Given the description of an element on the screen output the (x, y) to click on. 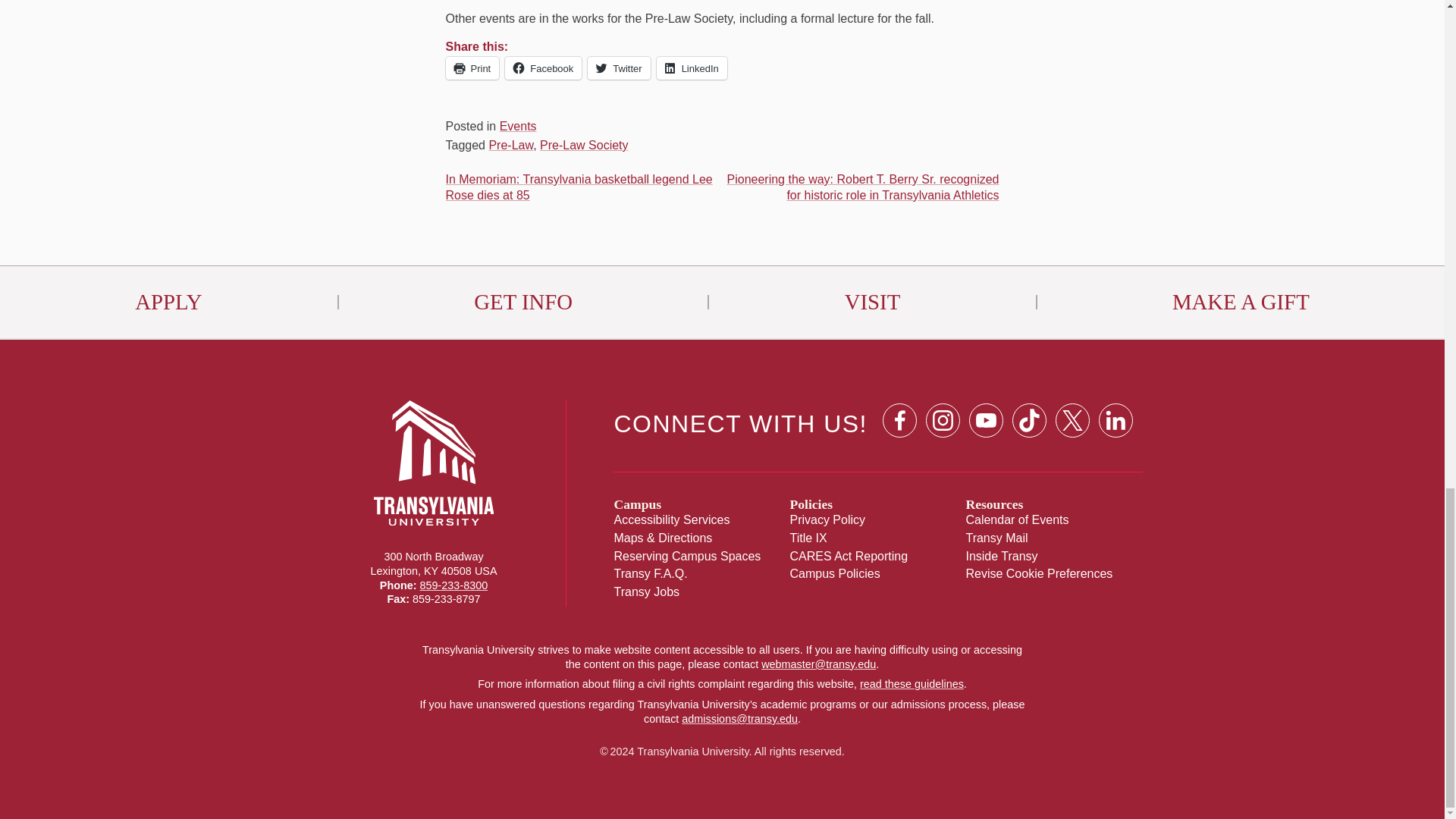
Transylvania University (433, 510)
Click to share on LinkedIn (691, 67)
Click to share on Twitter (618, 67)
Click to print (472, 67)
Click to share on Facebook (542, 67)
